Given the description of an element on the screen output the (x, y) to click on. 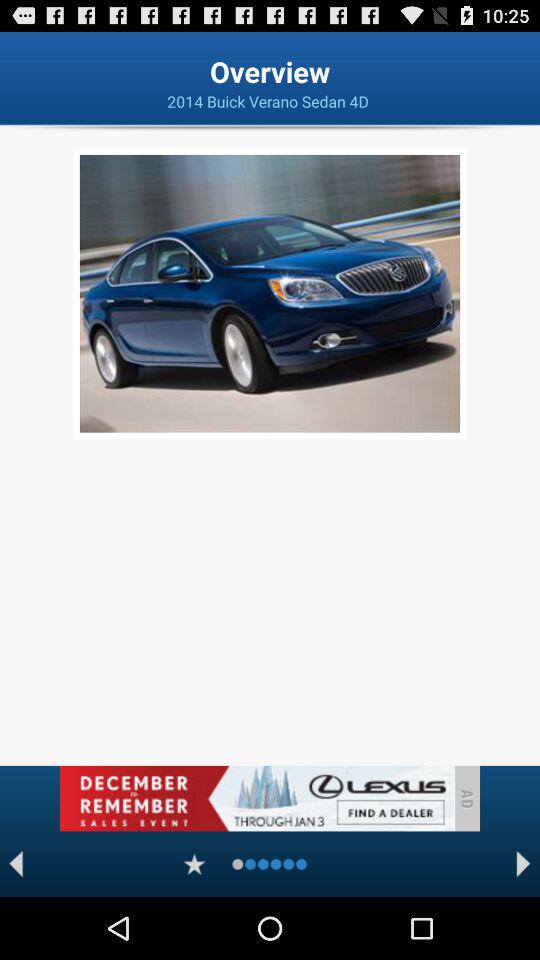
next image (523, 864)
